Given the description of an element on the screen output the (x, y) to click on. 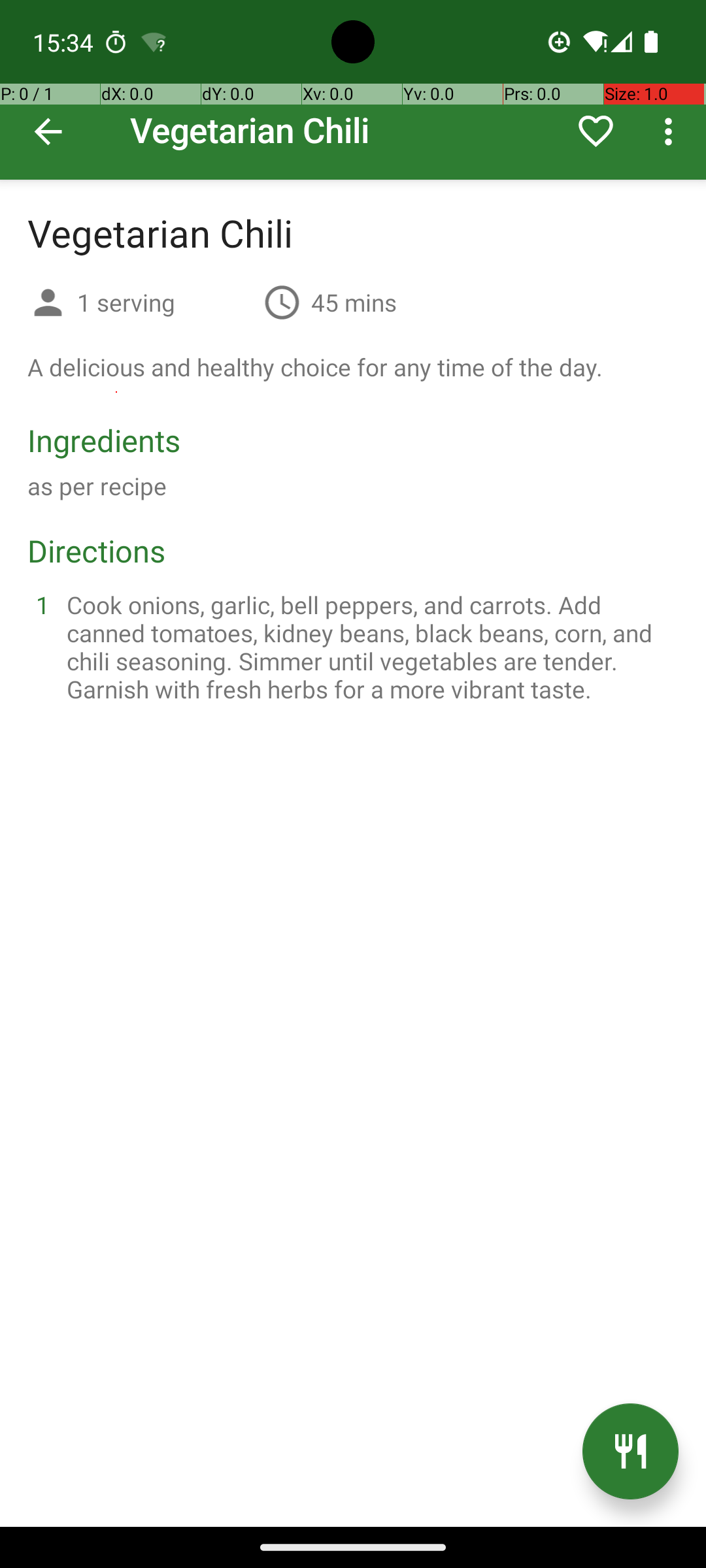
Vegetarian Chili Element type: android.widget.FrameLayout (353, 89)
Cook onions, garlic, bell peppers, and carrots. Add canned tomatoes, kidney beans, black beans, corn, and chili seasoning. Simmer until vegetables are tender. Garnish with fresh herbs for a more vibrant taste. Element type: android.widget.TextView (368, 646)
